Given the description of an element on the screen output the (x, y) to click on. 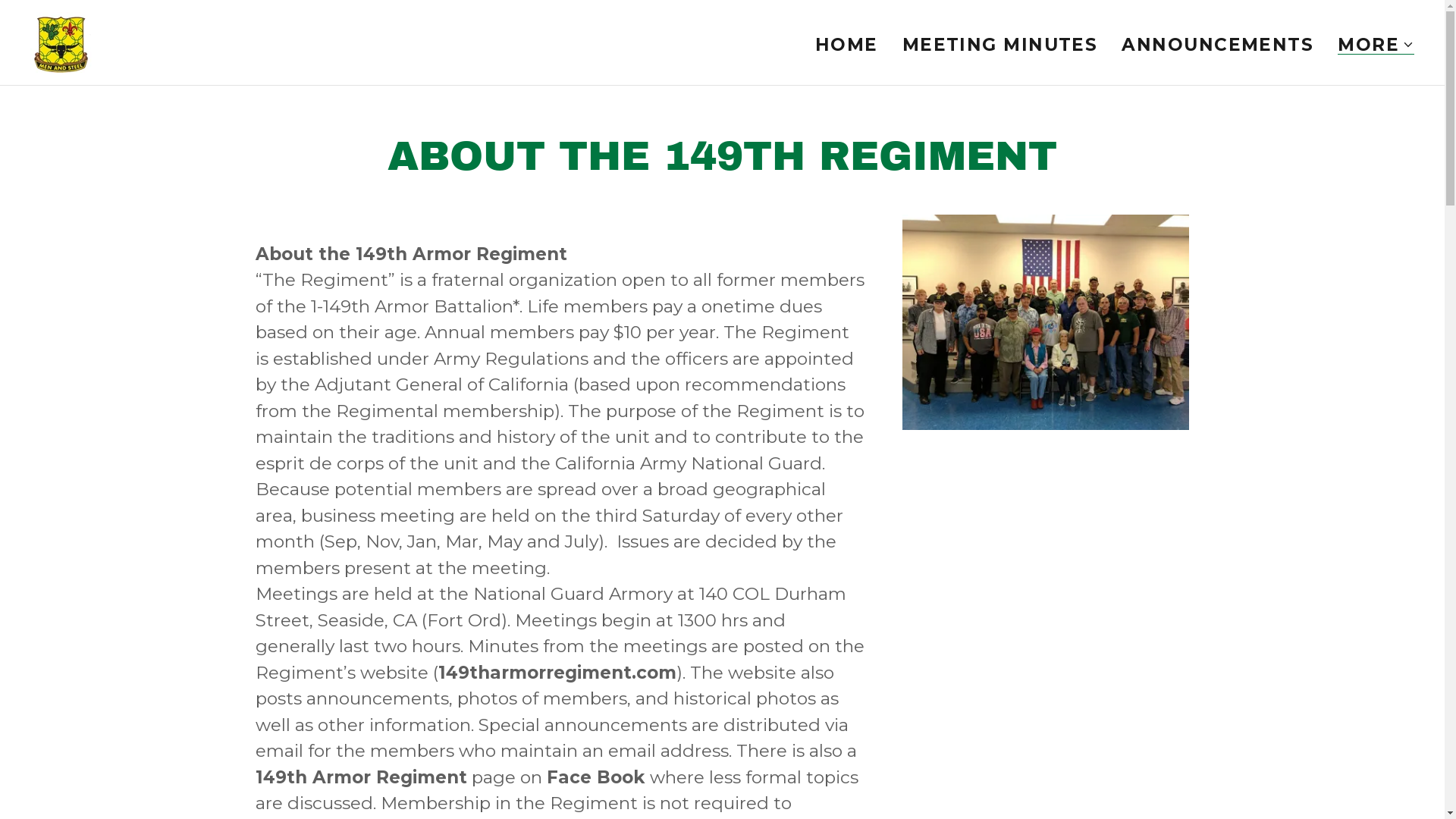
149th Armor Regiment Element type: hover (60, 40)
HOME Element type: text (846, 43)
ANNOUNCEMENTS Element type: text (1217, 43)
MORE Element type: text (1375, 43)
MEETING MINUTES Element type: text (999, 43)
